Given the description of an element on the screen output the (x, y) to click on. 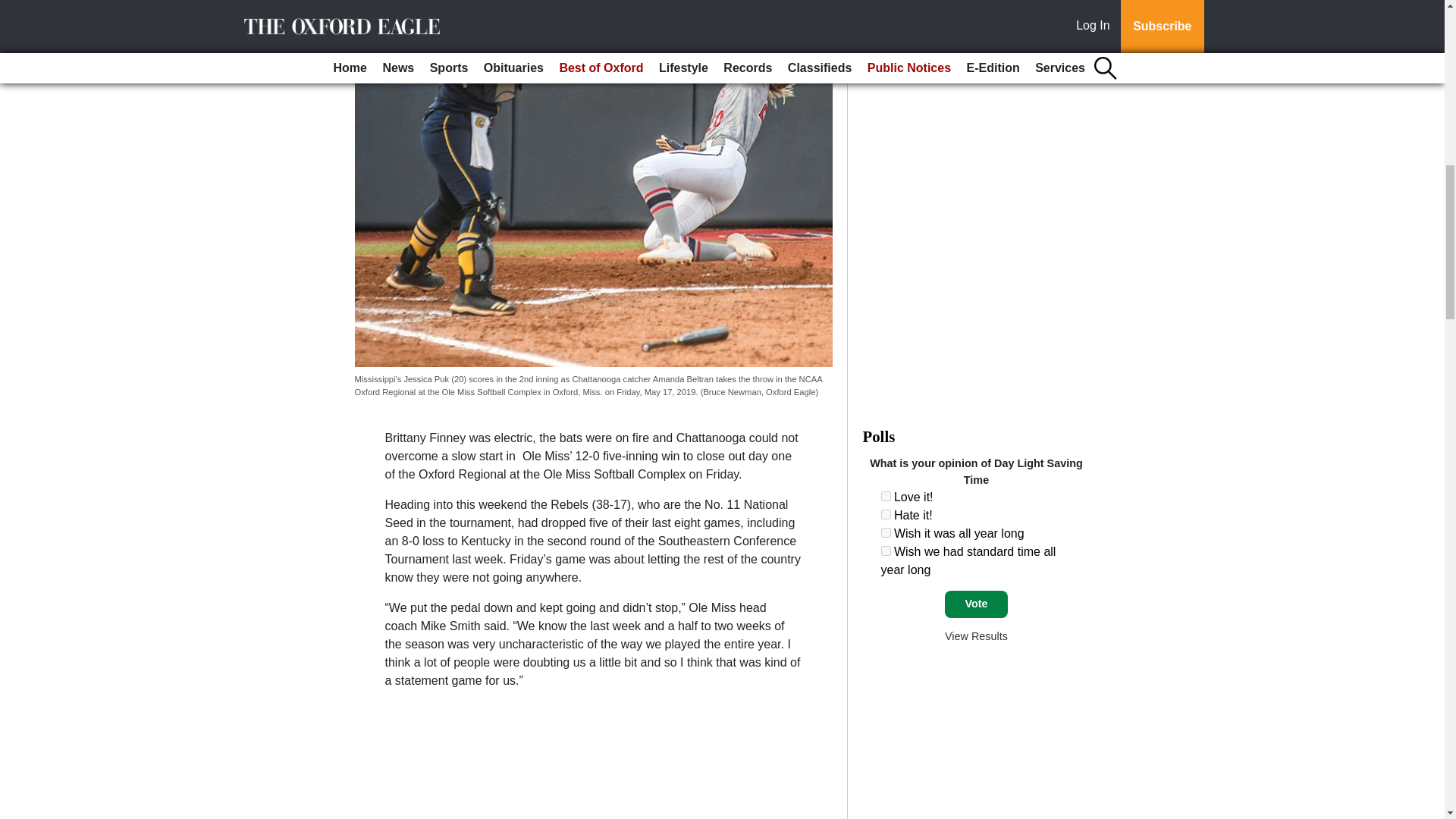
160 (885, 496)
   Vote    (975, 604)
162 (885, 532)
161 (885, 514)
View Results (975, 635)
163 (885, 551)
View Results Of This Poll (975, 635)
